Given the description of an element on the screen output the (x, y) to click on. 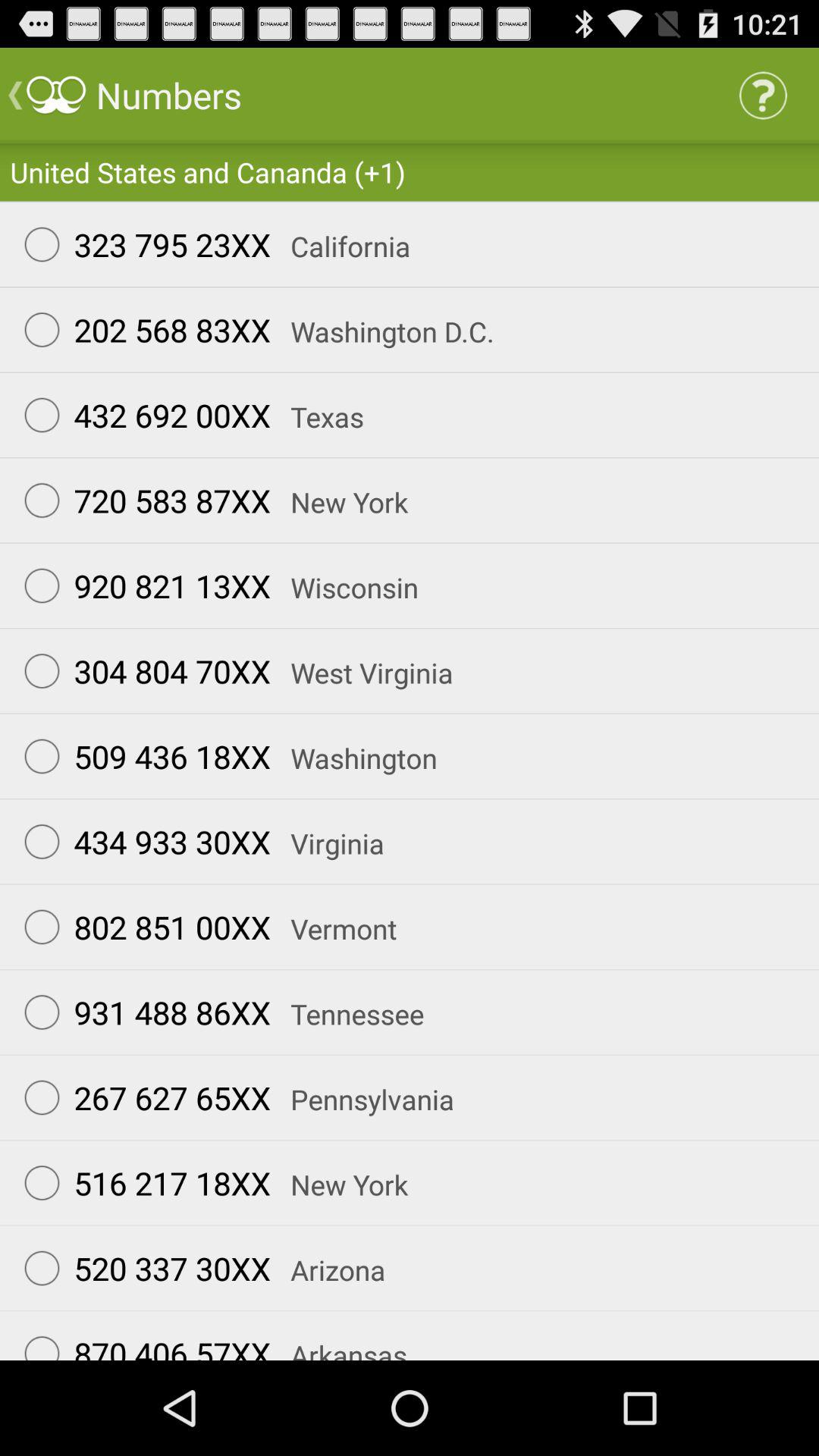
open the app below united states and app (140, 244)
